Given the description of an element on the screen output the (x, y) to click on. 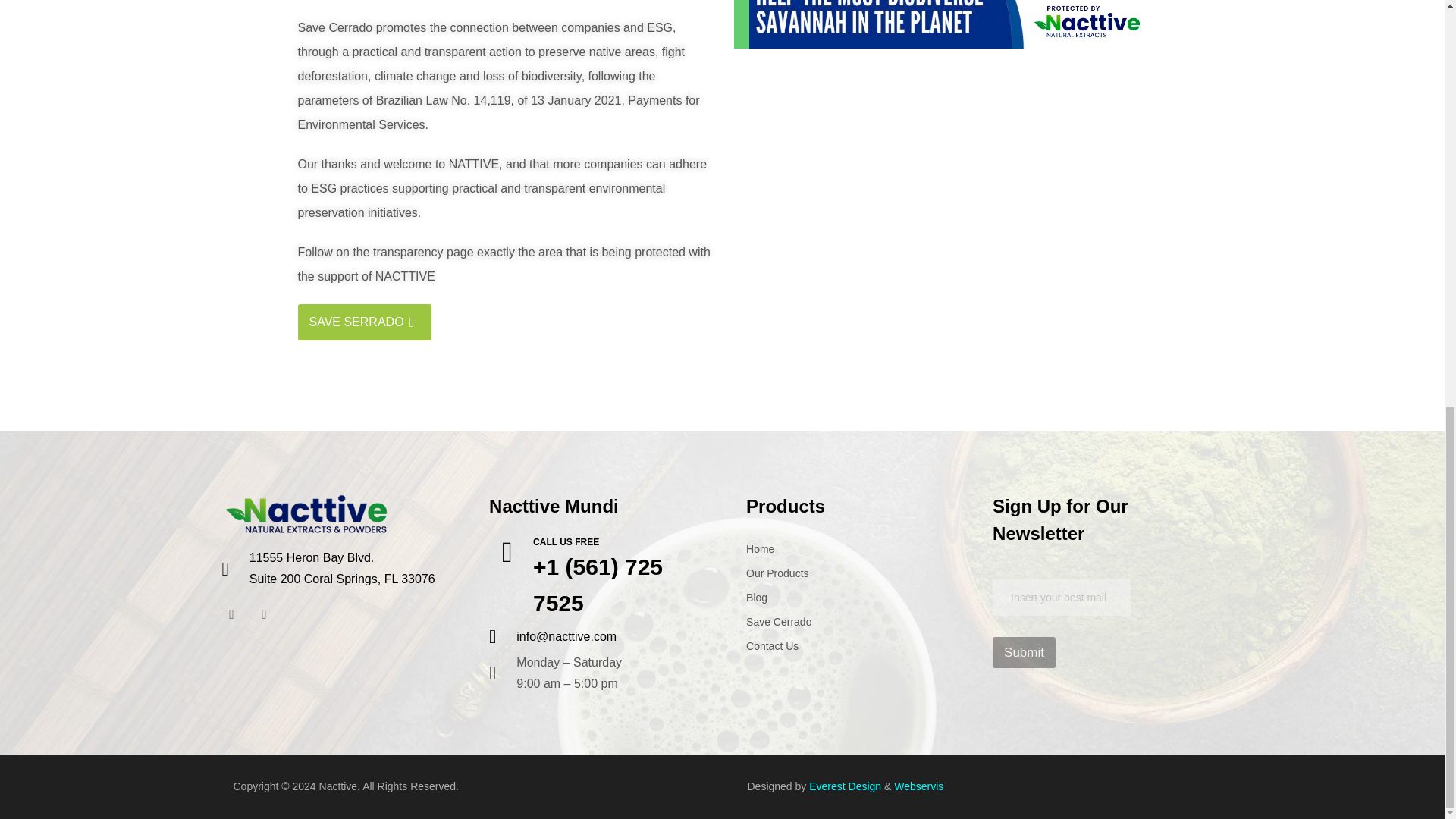
CALL US FREE (341, 568)
Home (565, 542)
Our Products (759, 548)
SAVE SERRADO (776, 573)
Blog (363, 321)
